Given the description of an element on the screen output the (x, y) to click on. 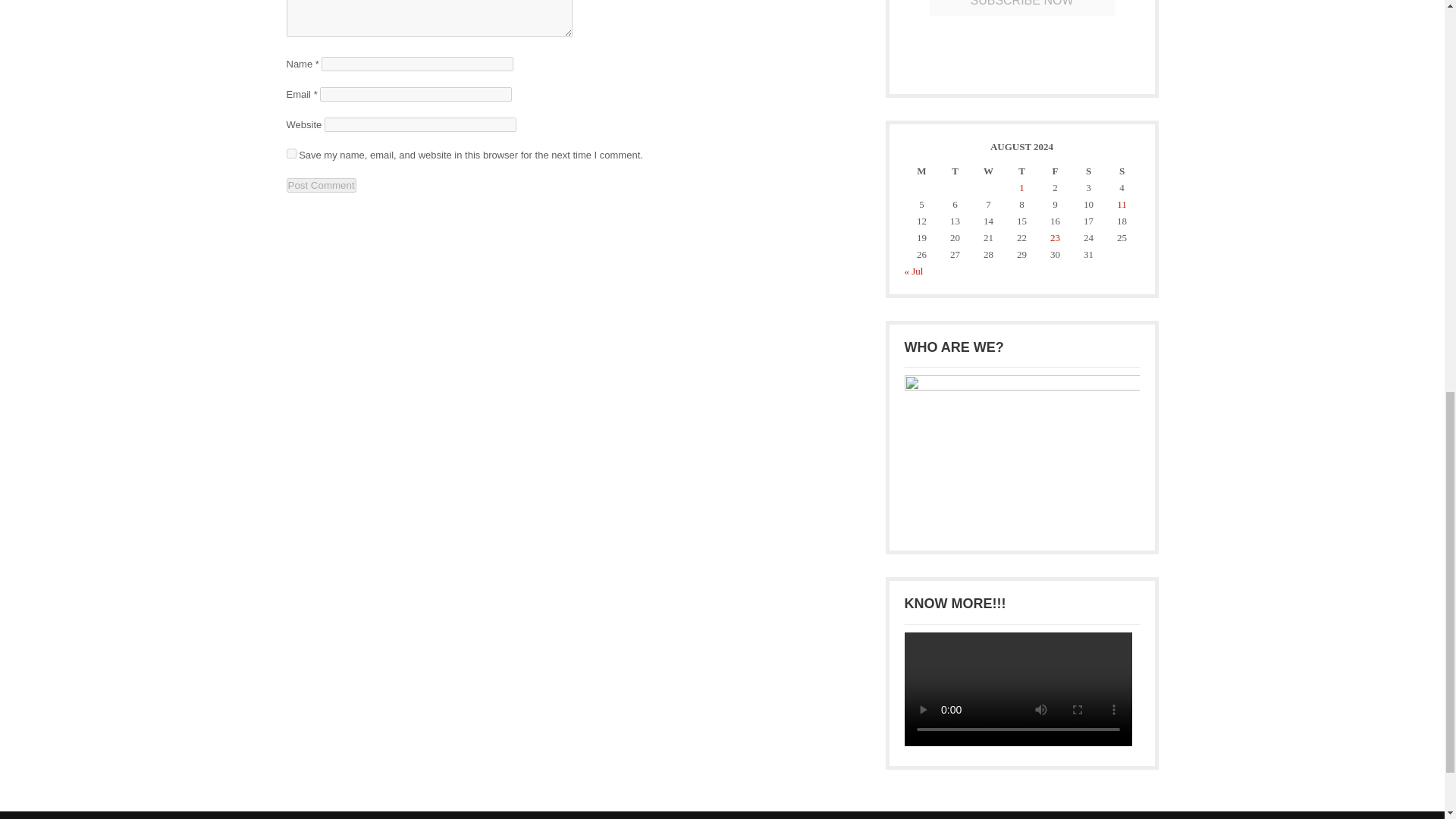
SUBSCRIBE NOW (1021, 8)
Tuesday (955, 171)
Post Comment (321, 185)
yes (291, 153)
Monday (921, 171)
Sunday (1121, 171)
Post Comment (321, 185)
Wednesday (988, 171)
Friday (1054, 171)
Saturday (1087, 171)
